Given the description of an element on the screen output the (x, y) to click on. 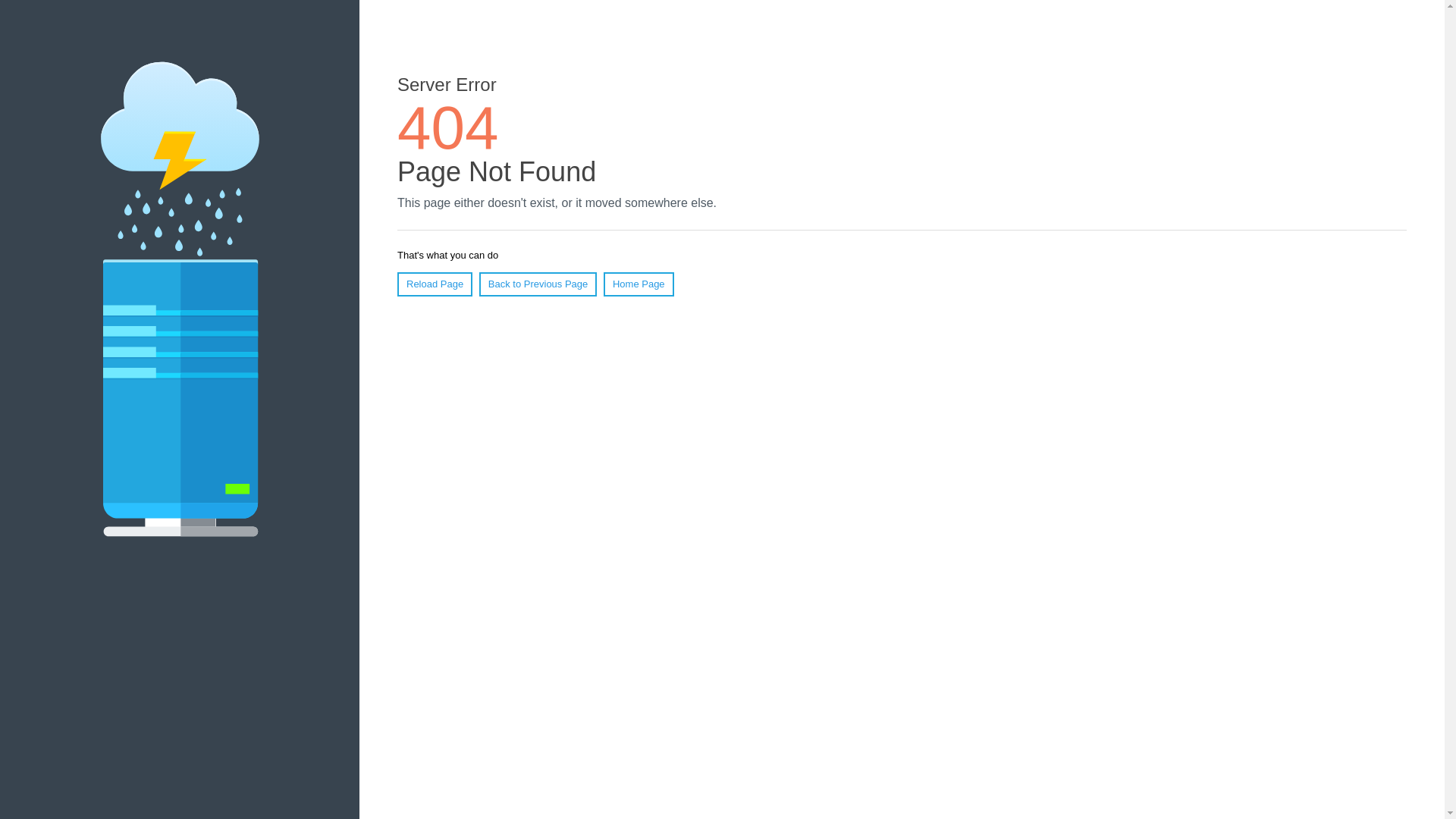
Back to Previous Page Element type: text (538, 284)
Home Page Element type: text (638, 284)
Reload Page Element type: text (434, 284)
